Given the description of an element on the screen output the (x, y) to click on. 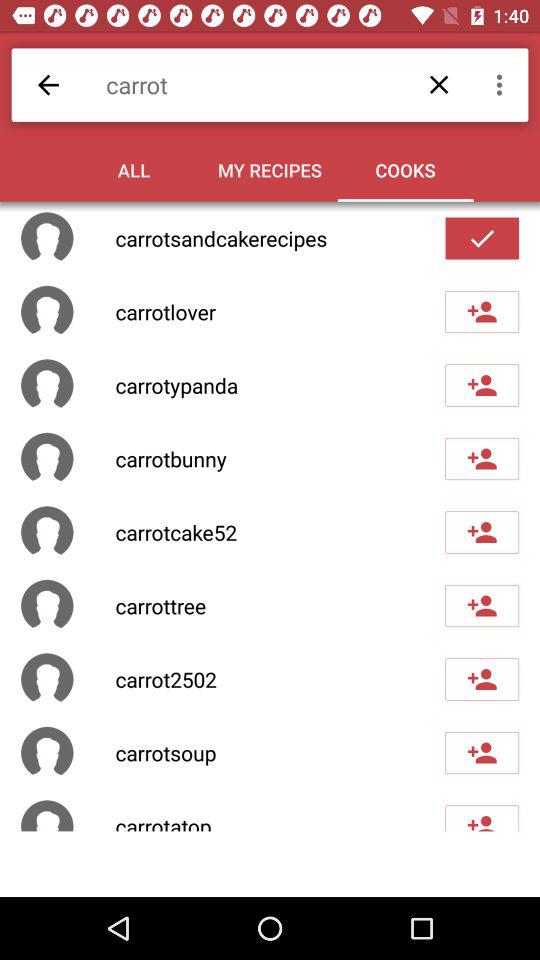
add this contact (482, 818)
